Given the description of an element on the screen output the (x, y) to click on. 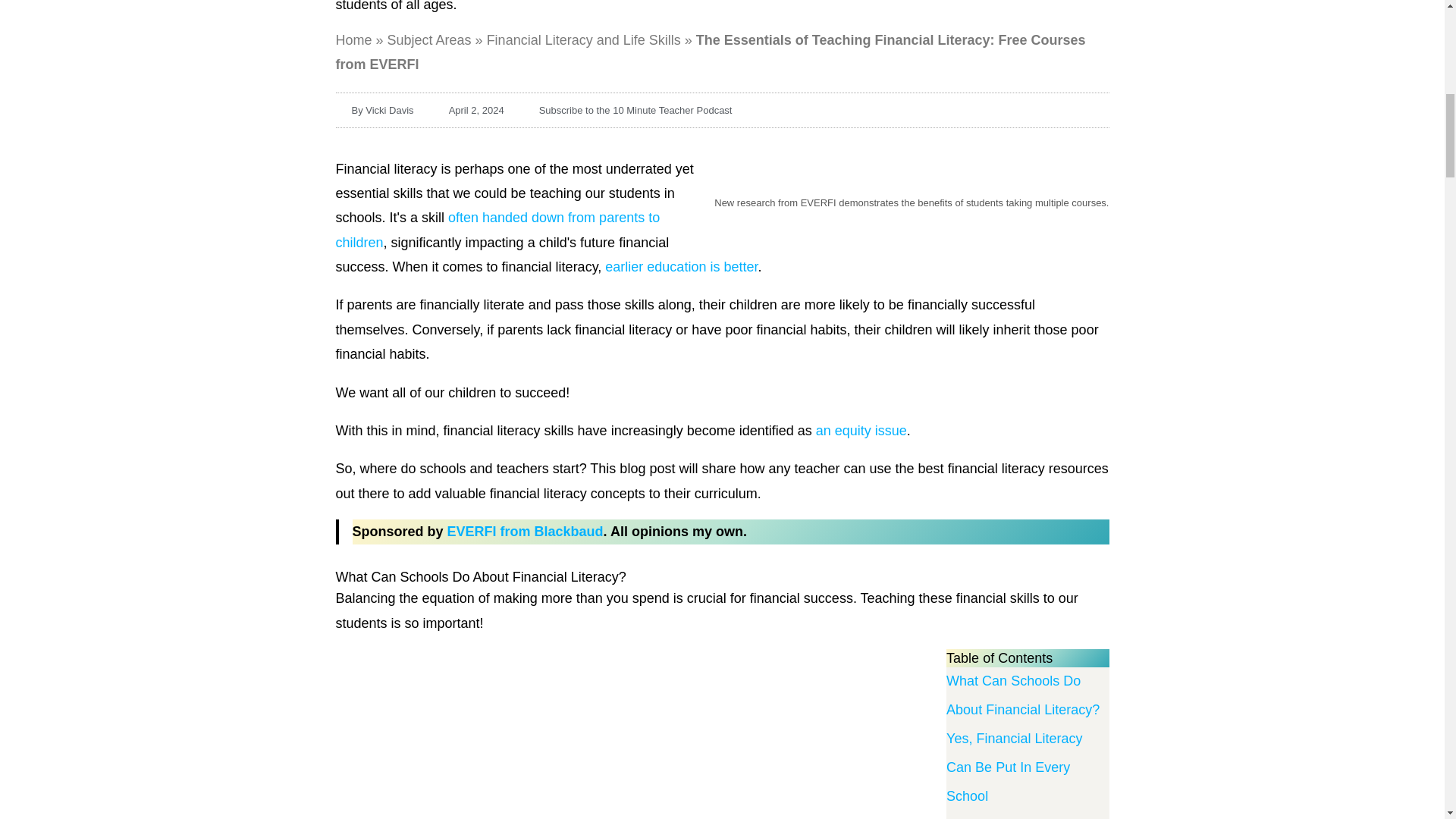
April 2, 2024 (467, 110)
Subscribe to the 10 Minute Teacher Podcast (627, 110)
Financial Literacy and Life Skills (583, 39)
Subject Areas (429, 39)
an equity issue (861, 430)
earlier education is better (681, 266)
Home (352, 39)
EVERFI from Blackbaud (525, 531)
often handed down from parents to children (496, 229)
By Vicki Davis (373, 110)
